Given the description of an element on the screen output the (x, y) to click on. 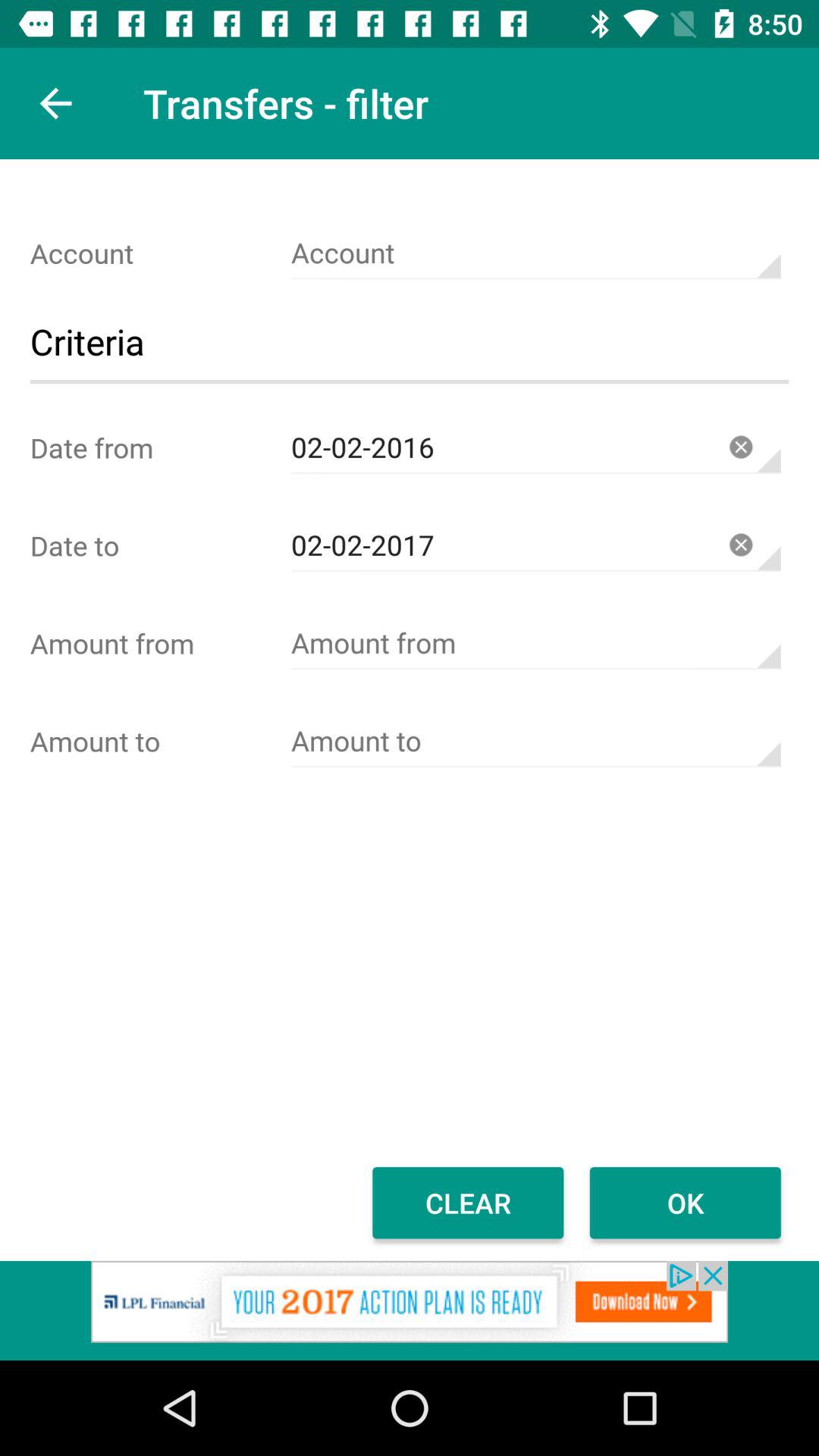
select account (535, 253)
